Given the description of an element on the screen output the (x, y) to click on. 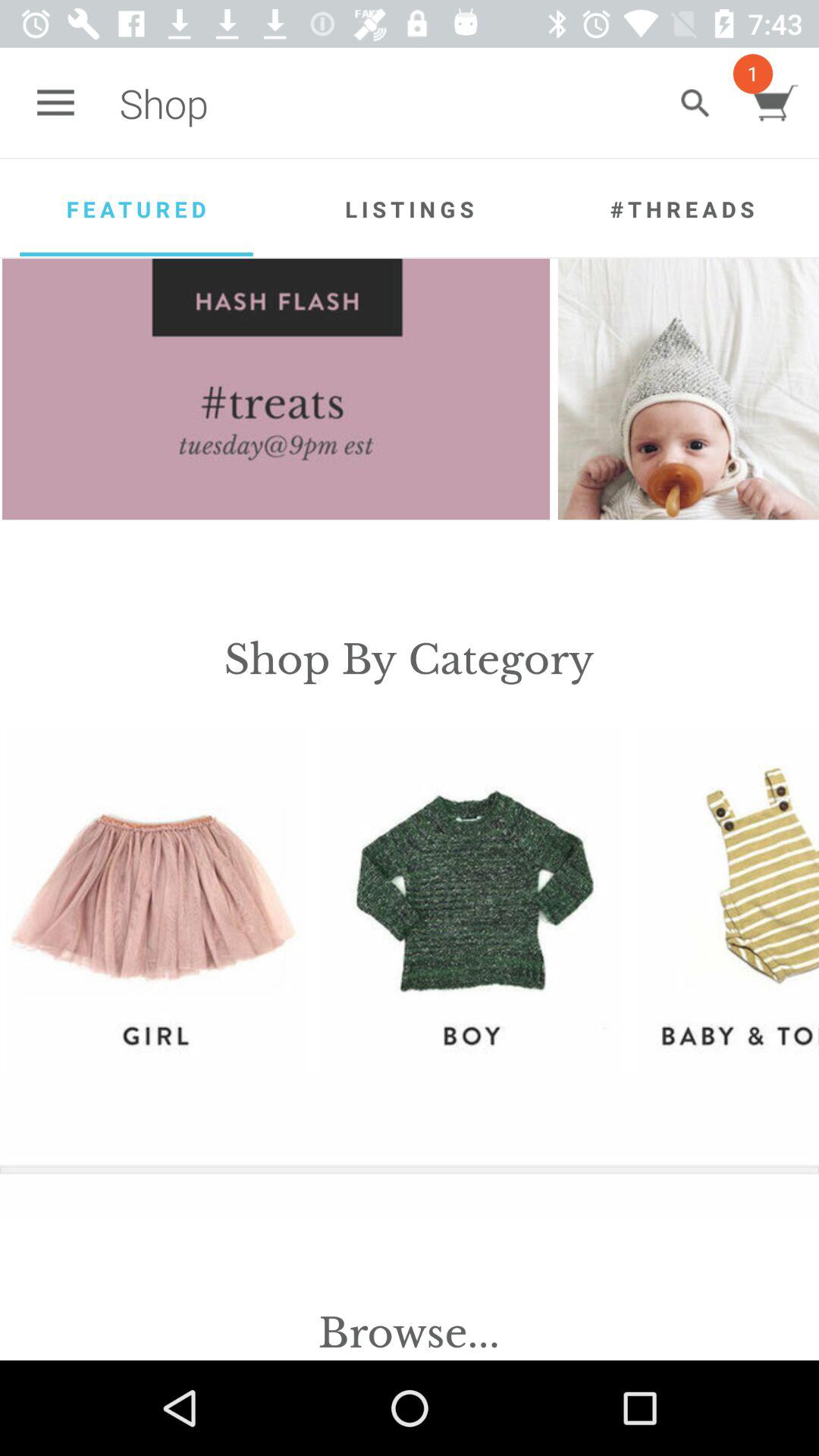
go to girl section (154, 899)
